Given the description of an element on the screen output the (x, y) to click on. 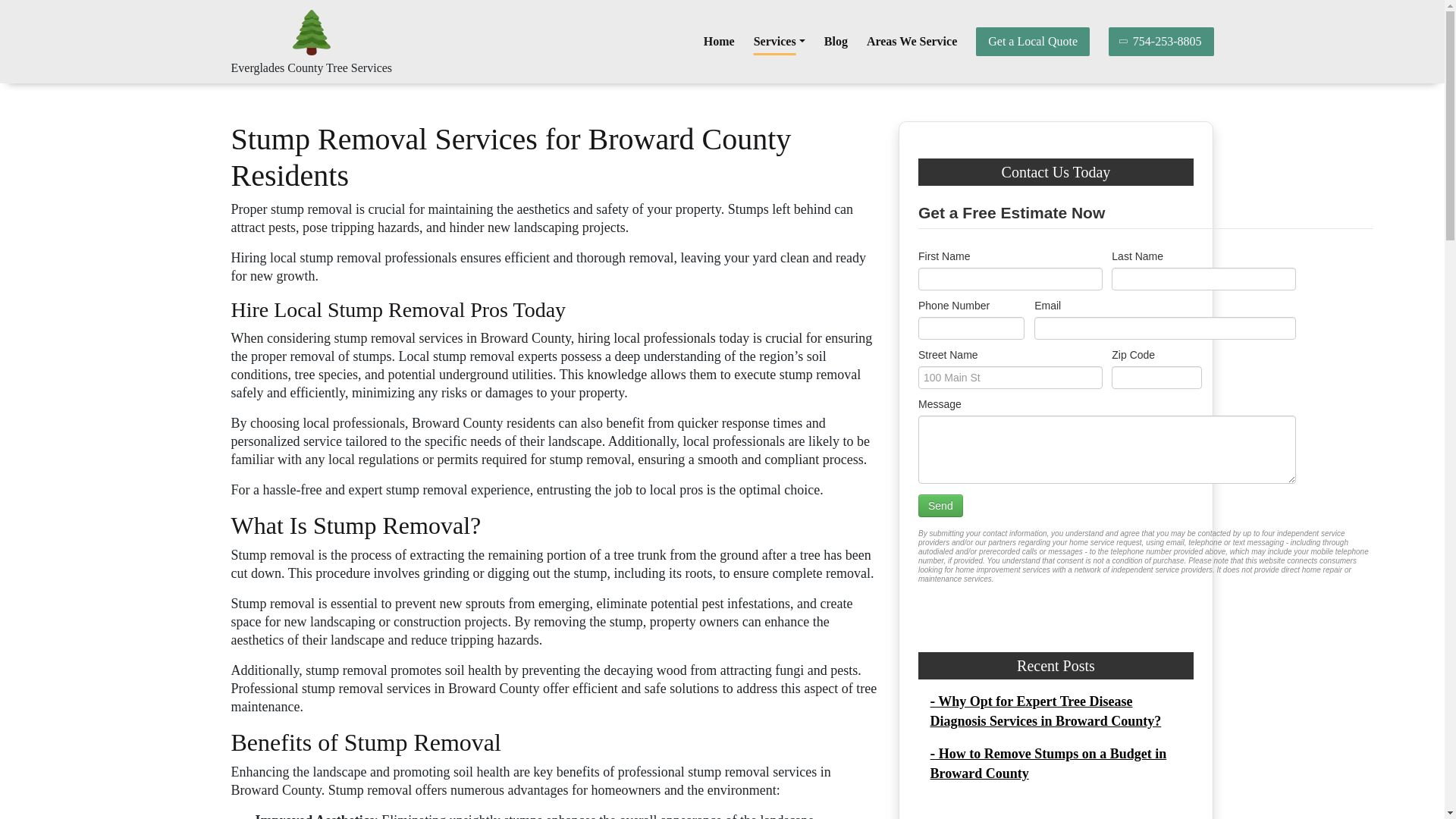
Areas We Service (911, 41)
Home (719, 41)
Areas We Service (911, 41)
Get a Local Quote (1032, 41)
Services (779, 41)
Everglades County Tree Services (310, 67)
Home (719, 41)
754-253-8805 (1161, 41)
- How to Remove Stumps on a Budget in Broward County (1048, 763)
Services (779, 41)
